Given the description of an element on the screen output the (x, y) to click on. 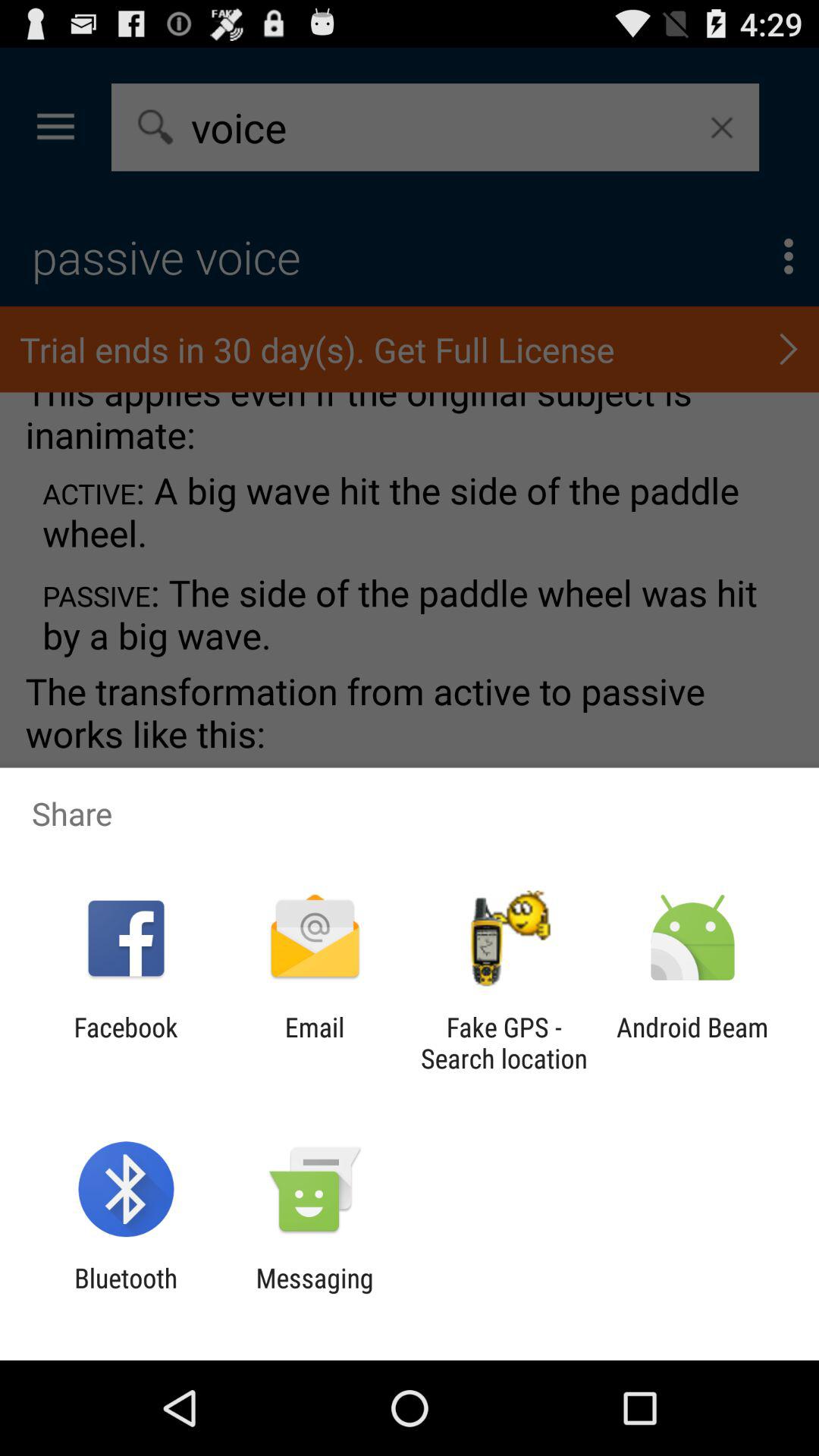
open the icon next to the email item (503, 1042)
